Given the description of an element on the screen output the (x, y) to click on. 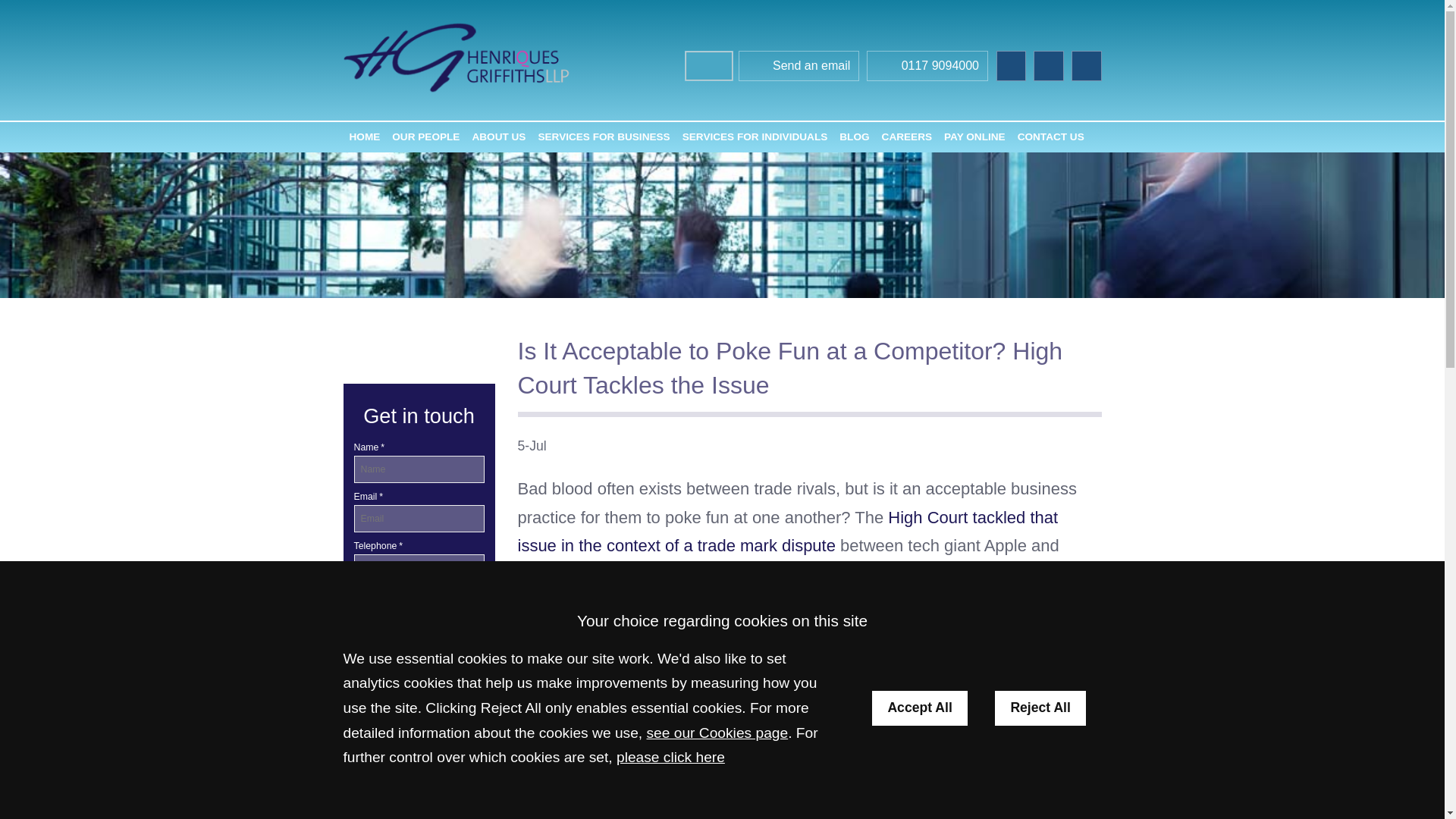
SERVICES FOR BUSINESS (603, 137)
Legal News (418, 727)
HOME (363, 137)
Send question (419, 615)
Send an email (799, 67)
Library (363, 693)
0117 9094000 (927, 67)
Commercial Client (418, 761)
PAY ONLINE (974, 137)
CAREERS (906, 137)
